Given the description of an element on the screen output the (x, y) to click on. 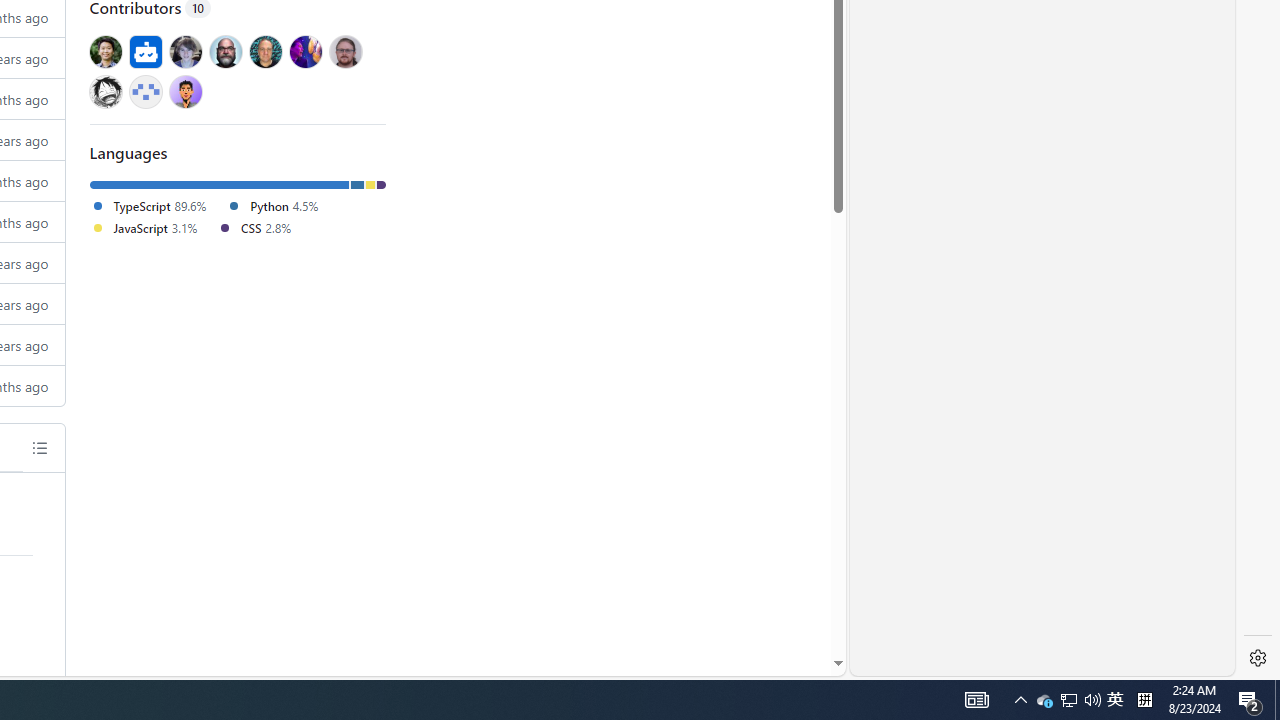
JavaScript 3.1% (143, 227)
@dependabot[bot] (145, 51)
Settings (1258, 658)
TypeScript89.6% (157, 206)
@aranciokov (345, 51)
TypeScript 89.6% (148, 205)
@sy-records (105, 91)
Class: mb-2 mr-2 (185, 91)
@Haroenv (305, 51)
@paul-hammant (265, 51)
@dguo (105, 51)
CSS2.8% (262, 228)
@web3Gurung (185, 91)
@aranciokov (345, 51)
@Haroenv (305, 51)
